Given the description of an element on the screen output the (x, y) to click on. 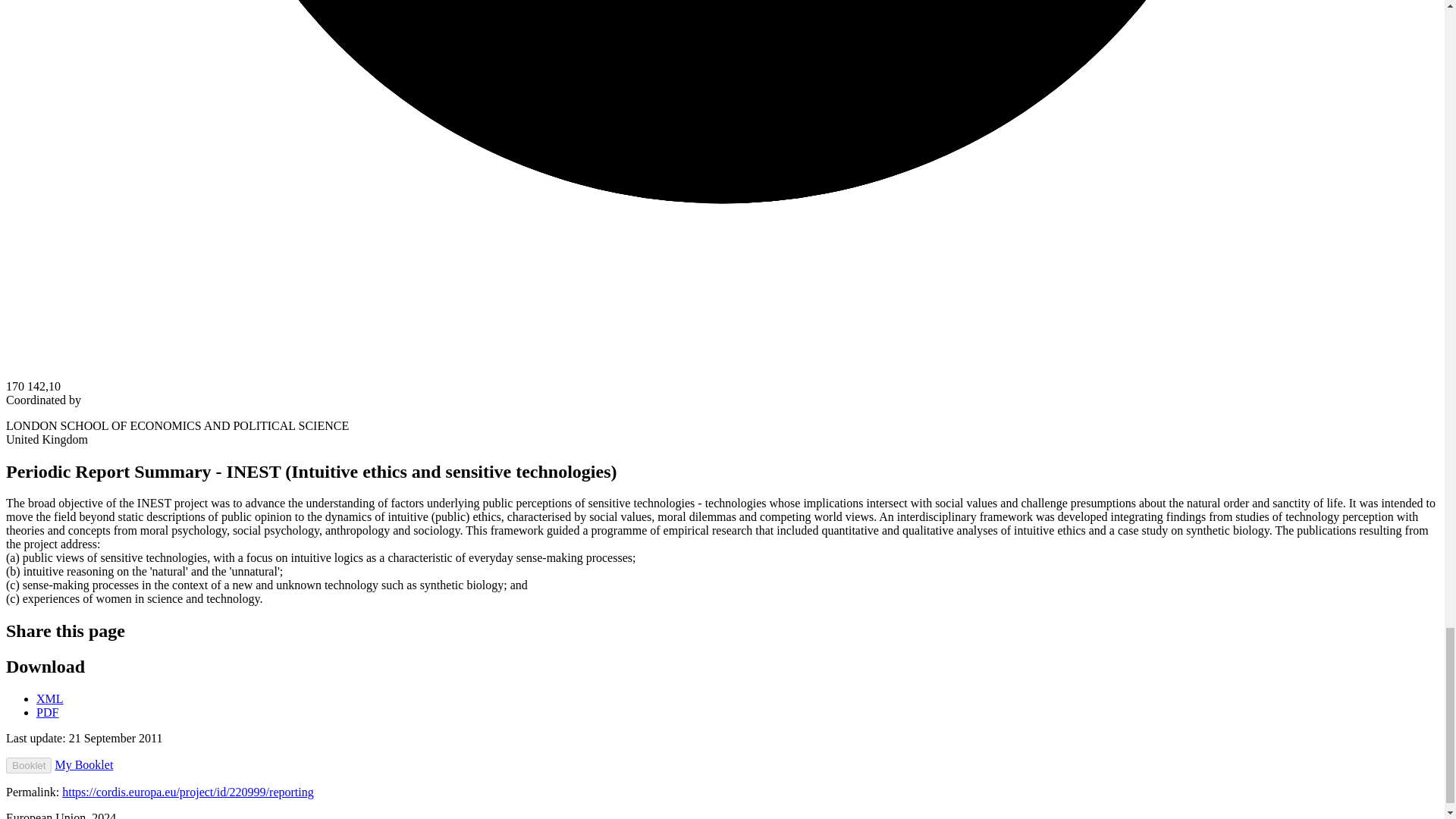
My Booklet (84, 764)
Booklet (27, 765)
PDF (47, 712)
XML (50, 698)
